Given the description of an element on the screen output the (x, y) to click on. 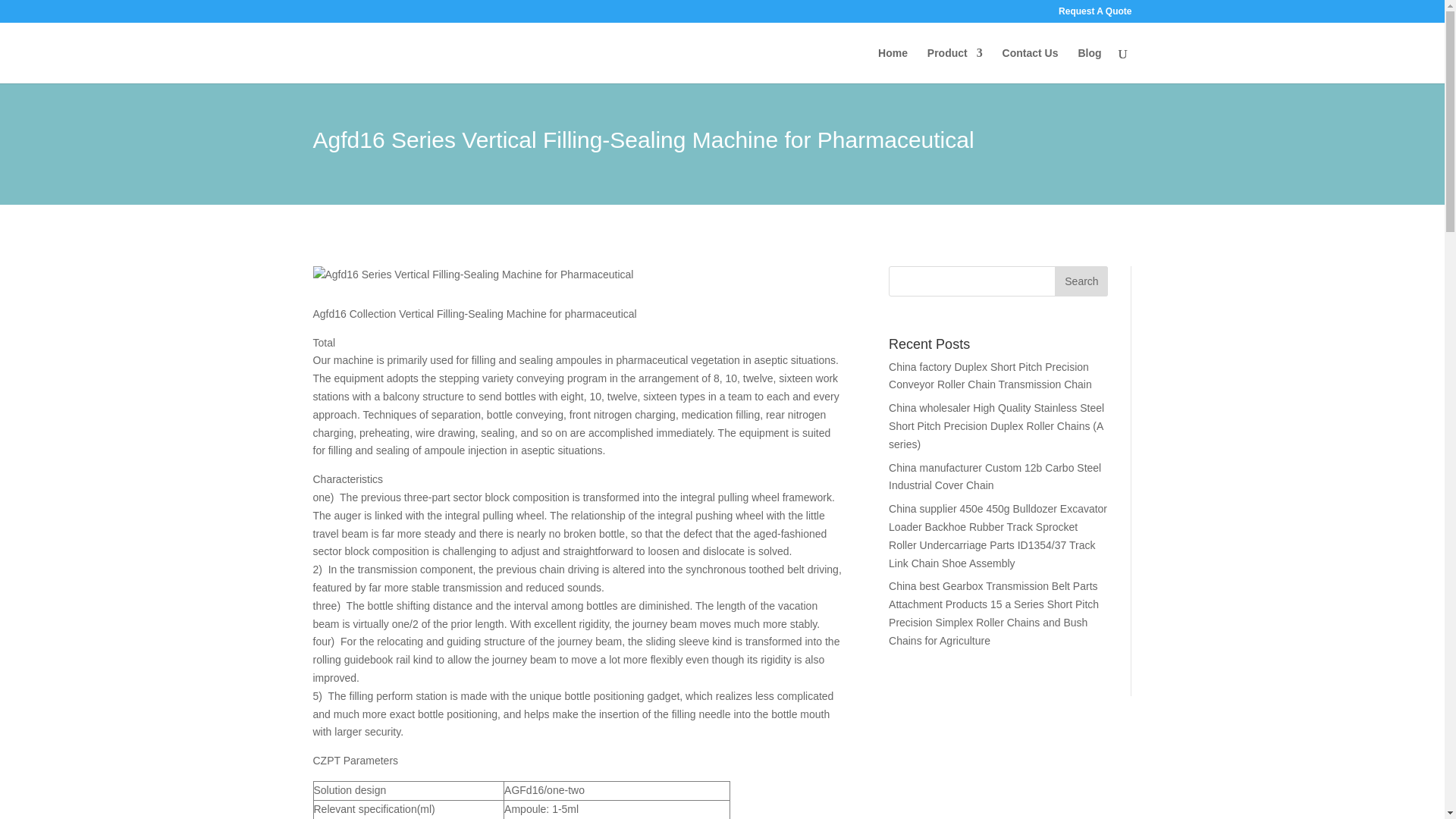
Search (1081, 281)
Product (954, 65)
Search (1081, 281)
Request A Quote (1094, 14)
Contact Us (1030, 65)
